Given the description of an element on the screen output the (x, y) to click on. 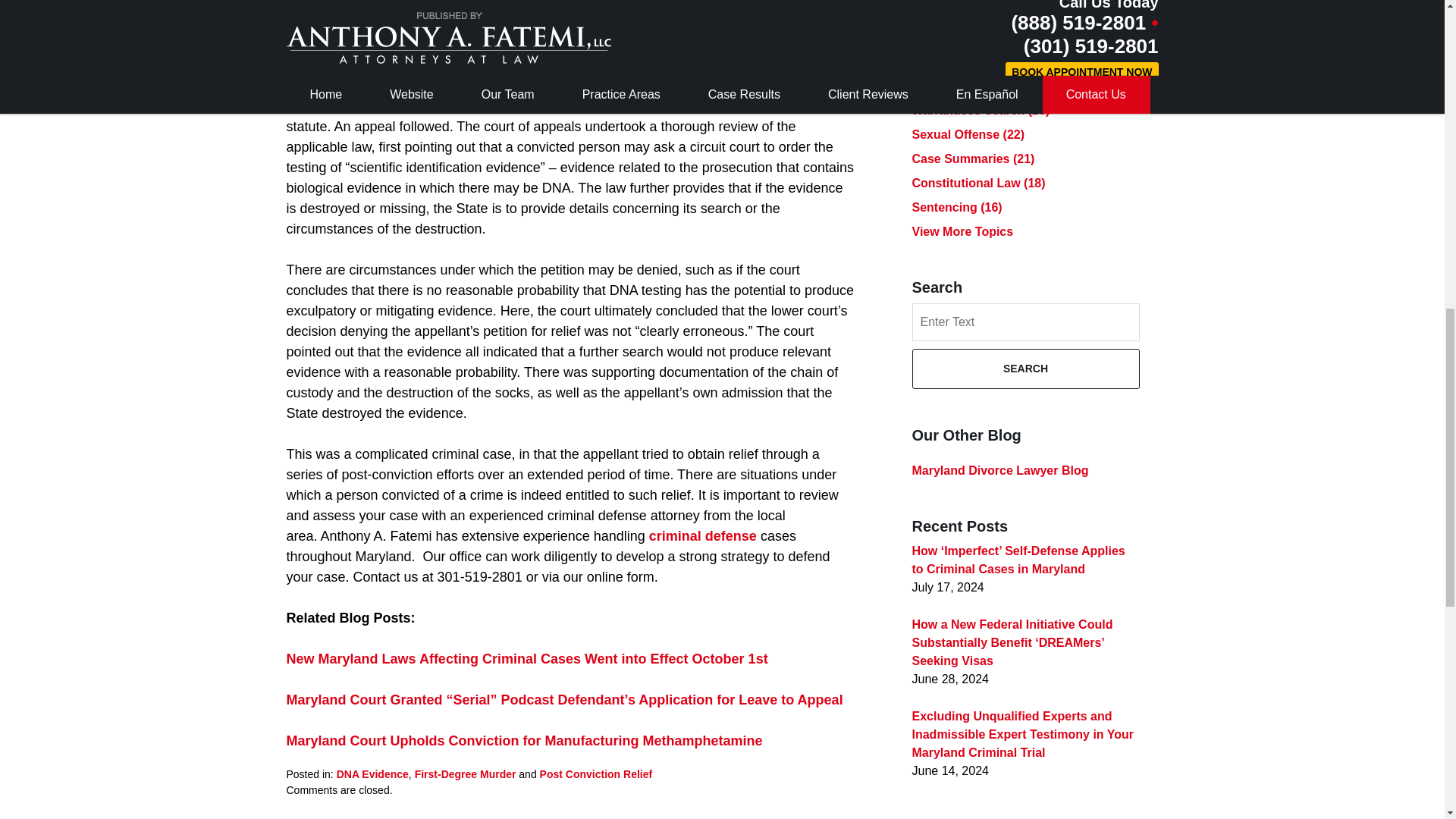
View all posts in First-Degree Murder (465, 774)
View all posts in Post Conviction Relief (596, 774)
View all posts in DNA Evidence (372, 774)
DNA Evidence (372, 774)
First-Degree Murder (465, 774)
Post Conviction Relief (596, 774)
criminal defense (703, 535)
